Given the description of an element on the screen output the (x, y) to click on. 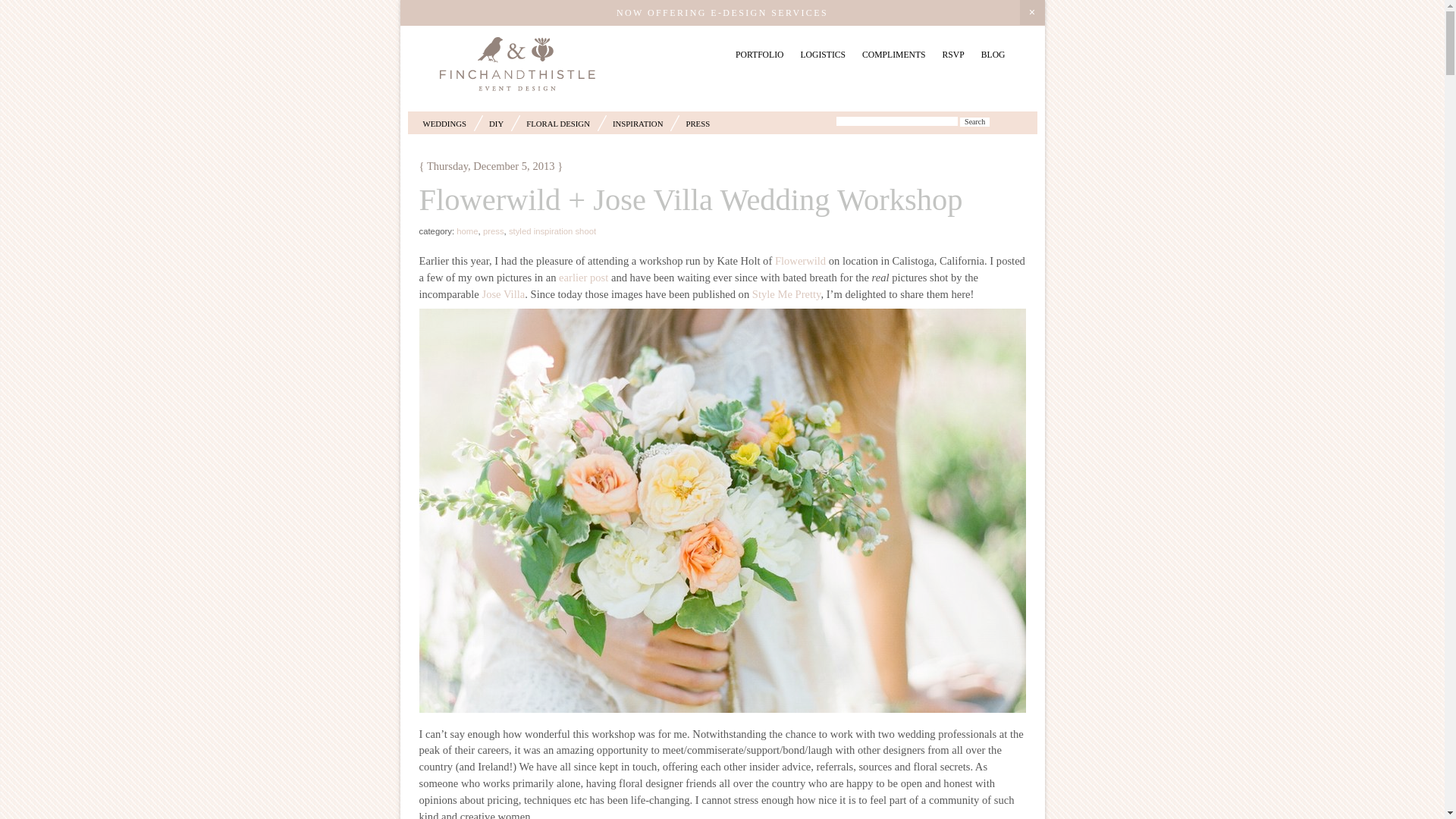
Flowerwild (799, 260)
styled inspiration shoot (551, 230)
press (493, 230)
INSPIRATION (637, 123)
Search (974, 121)
Flowerwild Workshop (583, 277)
home (467, 230)
Style Me Pretty (786, 294)
FLORAL DESIGN (557, 123)
LOGISTICS (822, 54)
earlier post (583, 277)
WEDDINGS (445, 123)
BLOG (993, 54)
NOW OFFERING E-DESIGN SERVICES (721, 12)
COMPLIMENTS (893, 54)
